Given the description of an element on the screen output the (x, y) to click on. 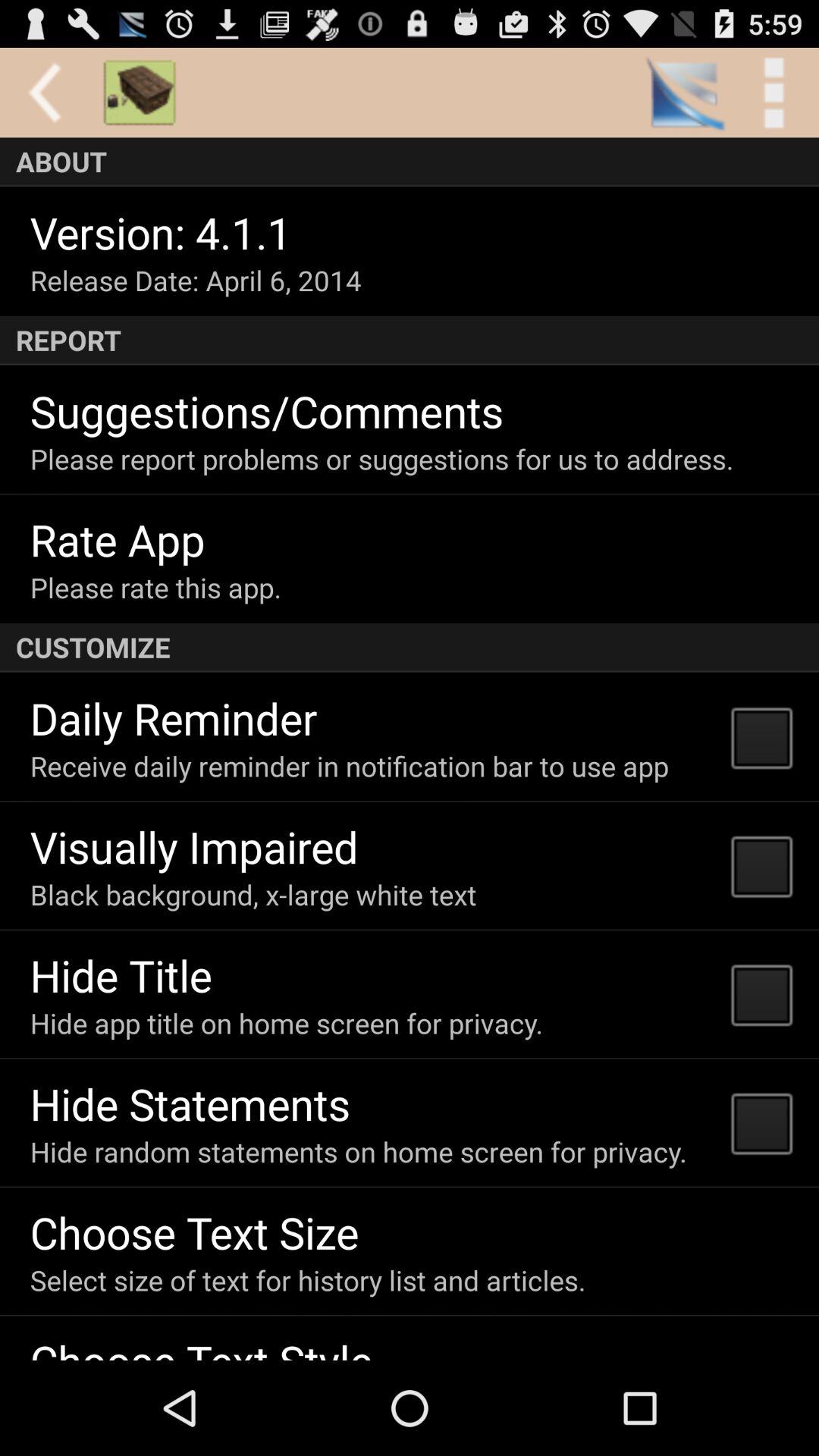
jump until the customize app (409, 647)
